Given the description of an element on the screen output the (x, y) to click on. 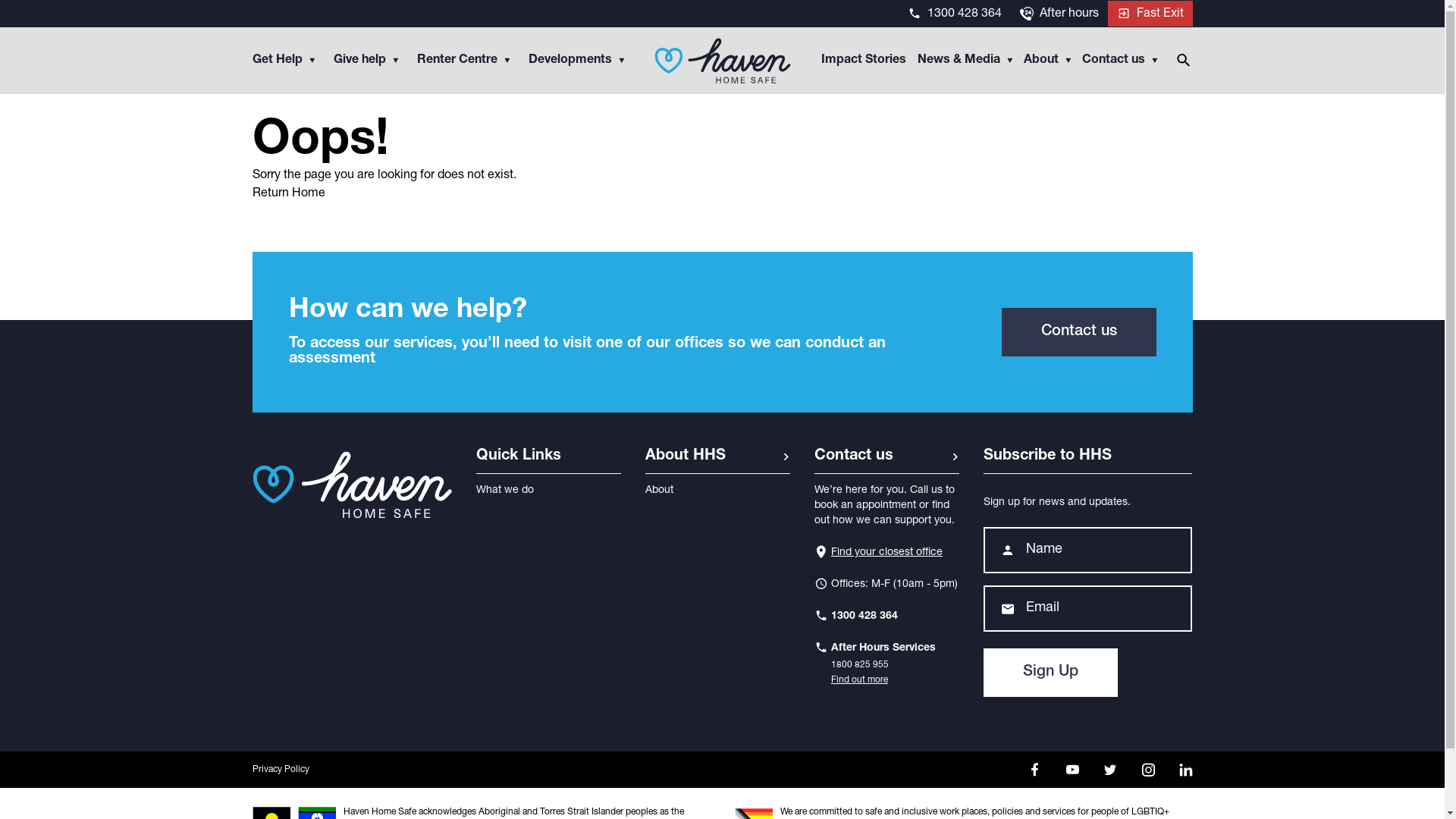
Impact Stories Element type: text (862, 60)
About HHS Element type: text (717, 460)
Privacy Policy Element type: text (298, 769)
After hours Element type: text (1058, 13)
1300 428 364 Element type: text (953, 13)
1800 825 955 Element type: text (883, 664)
Get Help Element type: text (284, 60)
Find out more Element type: text (883, 680)
Contact us Element type: text (1119, 60)
Give help Element type: text (365, 60)
Find your closest office Element type: text (878, 552)
About Element type: text (659, 490)
Sign Up Element type: text (1050, 672)
Return Home Element type: text (287, 194)
Developments Element type: text (575, 60)
About Element type: text (1047, 60)
Contact us Element type: text (886, 460)
1300 428 364 Element type: text (855, 616)
News & Media Element type: text (964, 60)
Contact us Element type: text (1078, 331)
Subscribe to HHS Element type: text (1087, 460)
Quick Links Element type: text (548, 460)
What we do Element type: text (504, 490)
Renter Centre Element type: text (463, 60)
Fast Exit Element type: text (1149, 13)
